Given the description of an element on the screen output the (x, y) to click on. 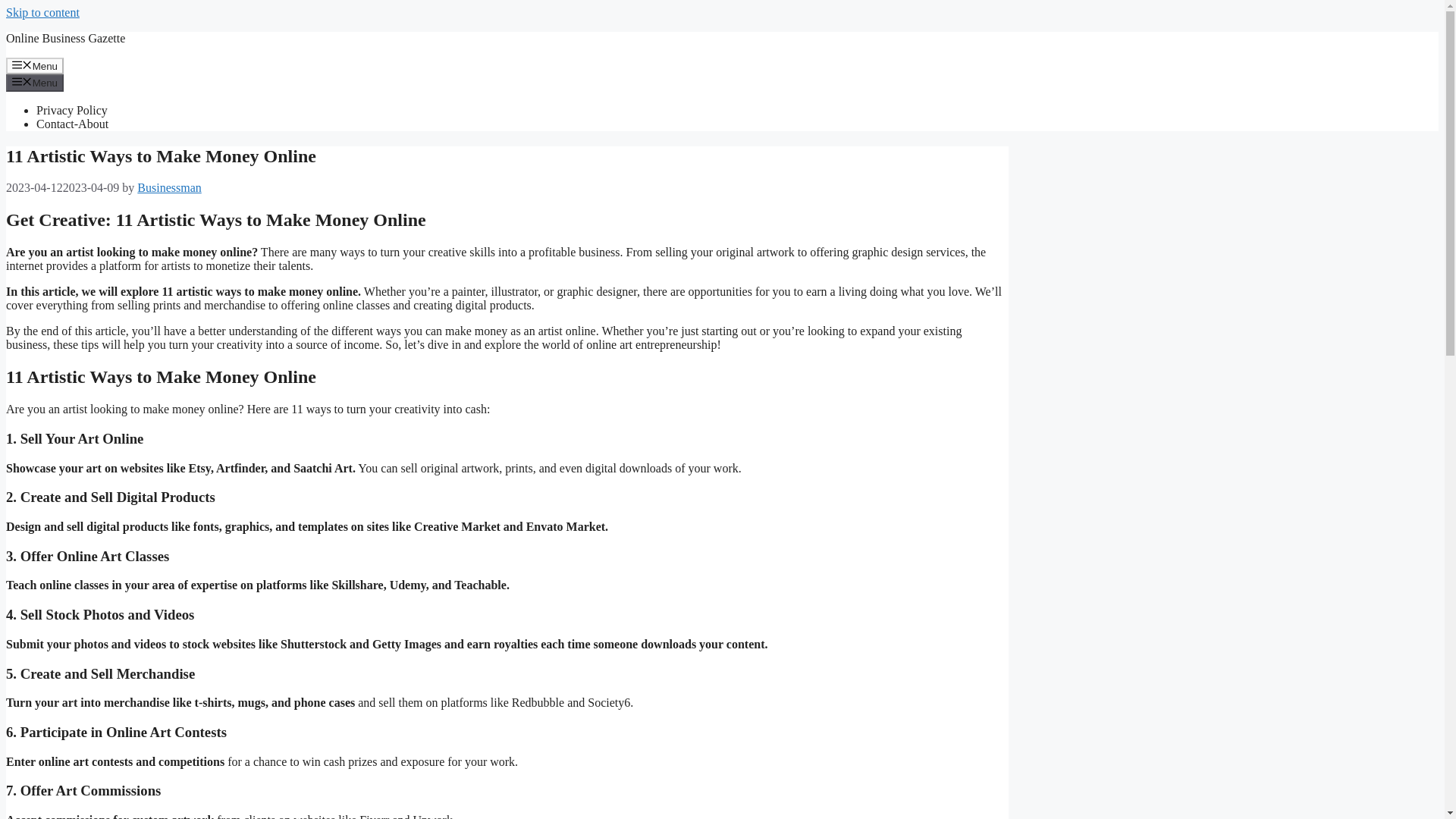
Online Business Gazette (65, 38)
Businessman (168, 187)
Menu (34, 65)
Menu (34, 82)
Privacy Policy (71, 110)
Contact-About (71, 123)
Skip to content (42, 11)
View all posts by Businessman (168, 187)
Skip to content (42, 11)
